Given the description of an element on the screen output the (x, y) to click on. 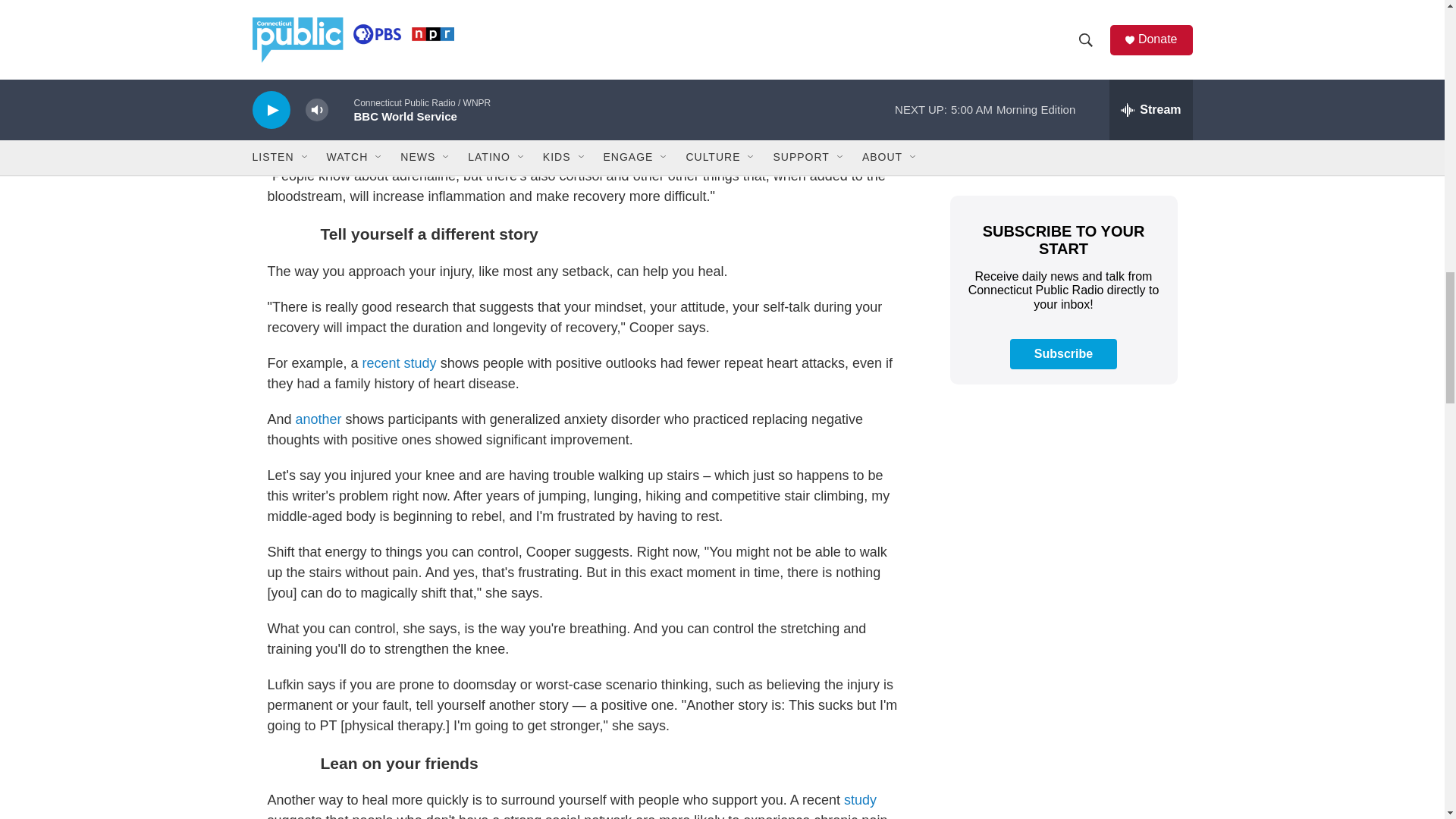
3rd party ad content (1062, 82)
